Given the description of an element on the screen output the (x, y) to click on. 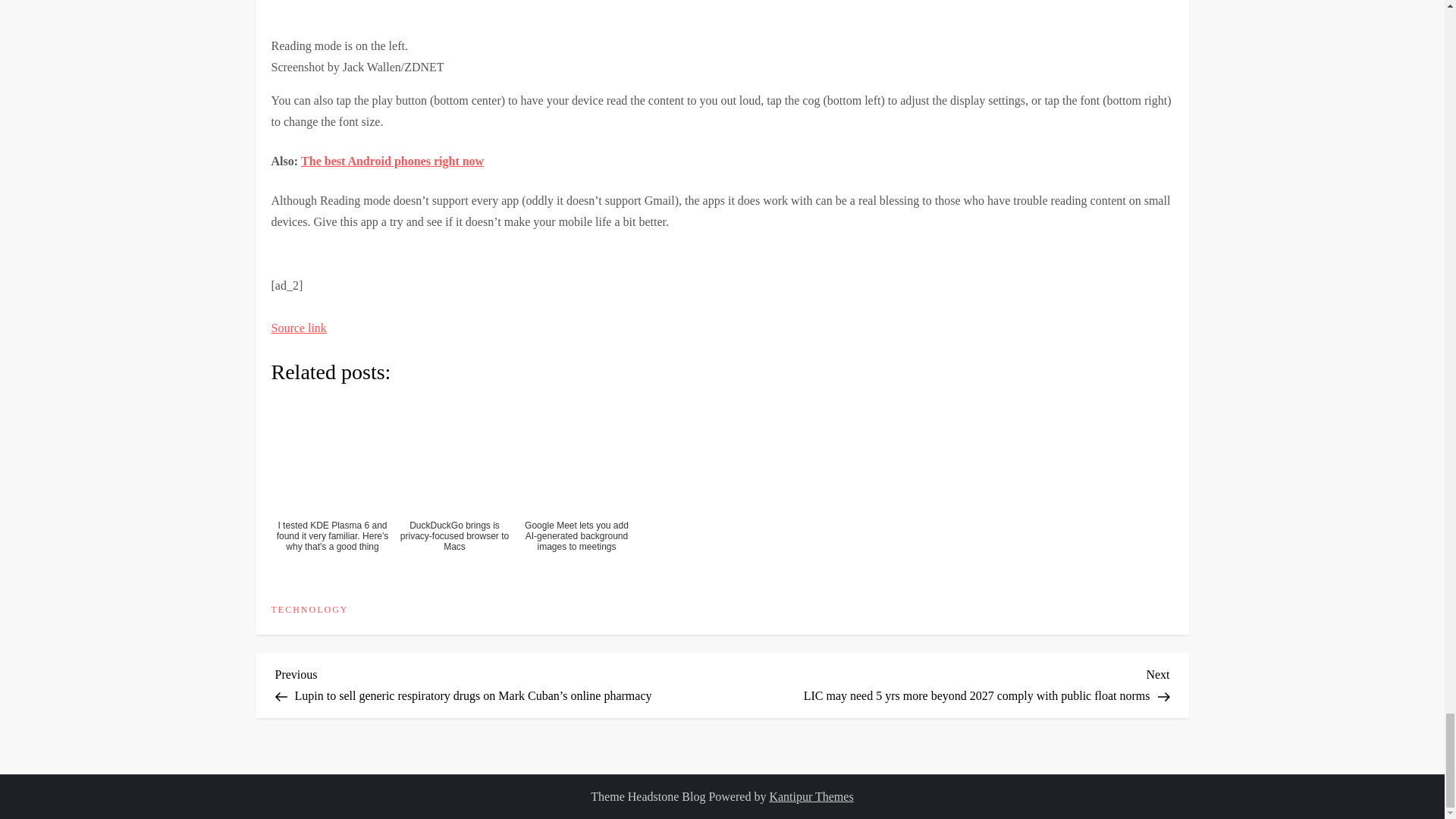
Kantipur Themes (810, 796)
TECHNOLOGY (309, 610)
Source link (298, 327)
The best Android phones right now (392, 160)
